Given the description of an element on the screen output the (x, y) to click on. 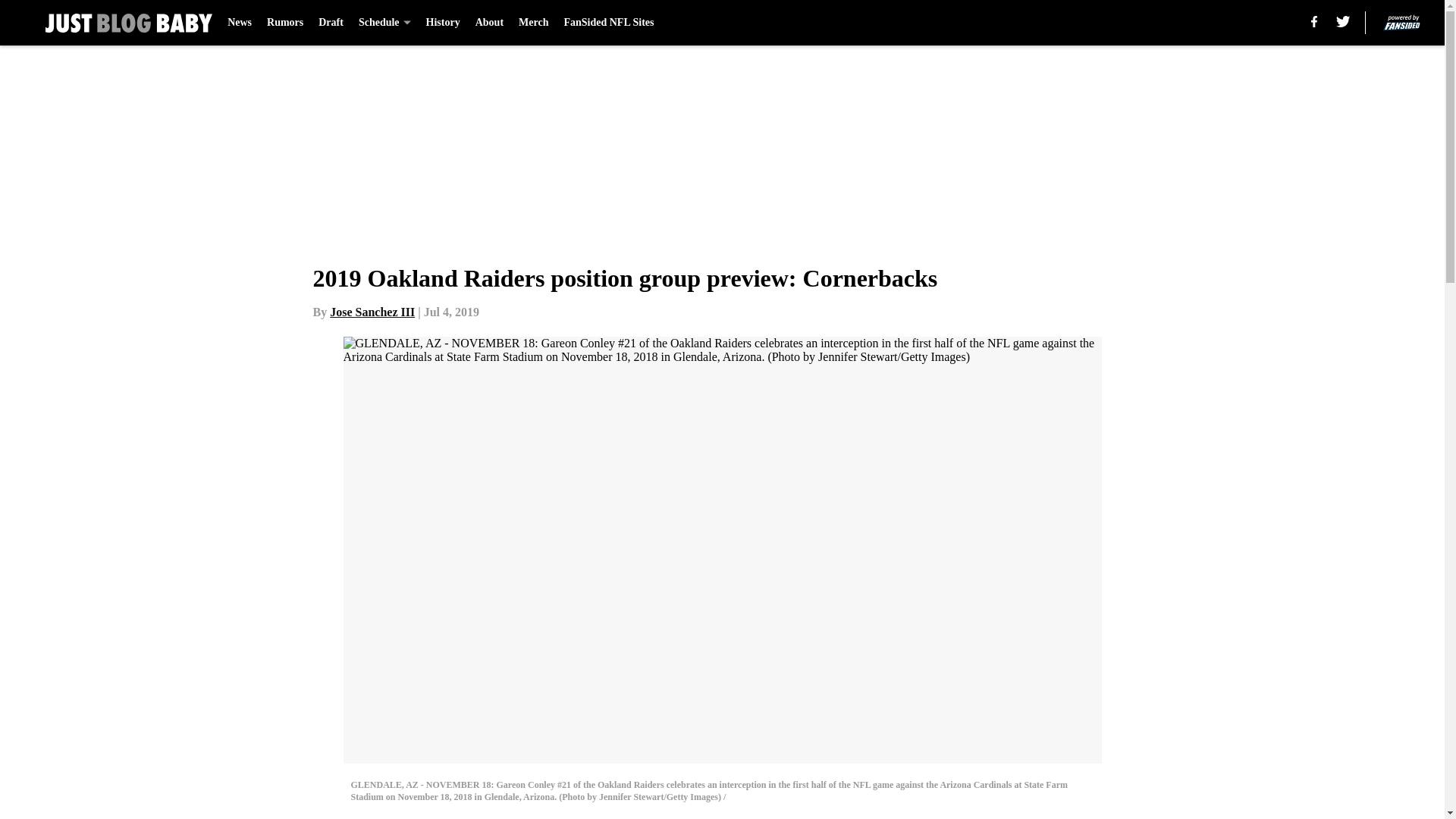
Merch (533, 22)
Draft (330, 22)
News (239, 22)
Rumors (284, 22)
About (489, 22)
History (443, 22)
FanSided NFL Sites (608, 22)
Jose Sanchez III (372, 311)
